Given the description of an element on the screen output the (x, y) to click on. 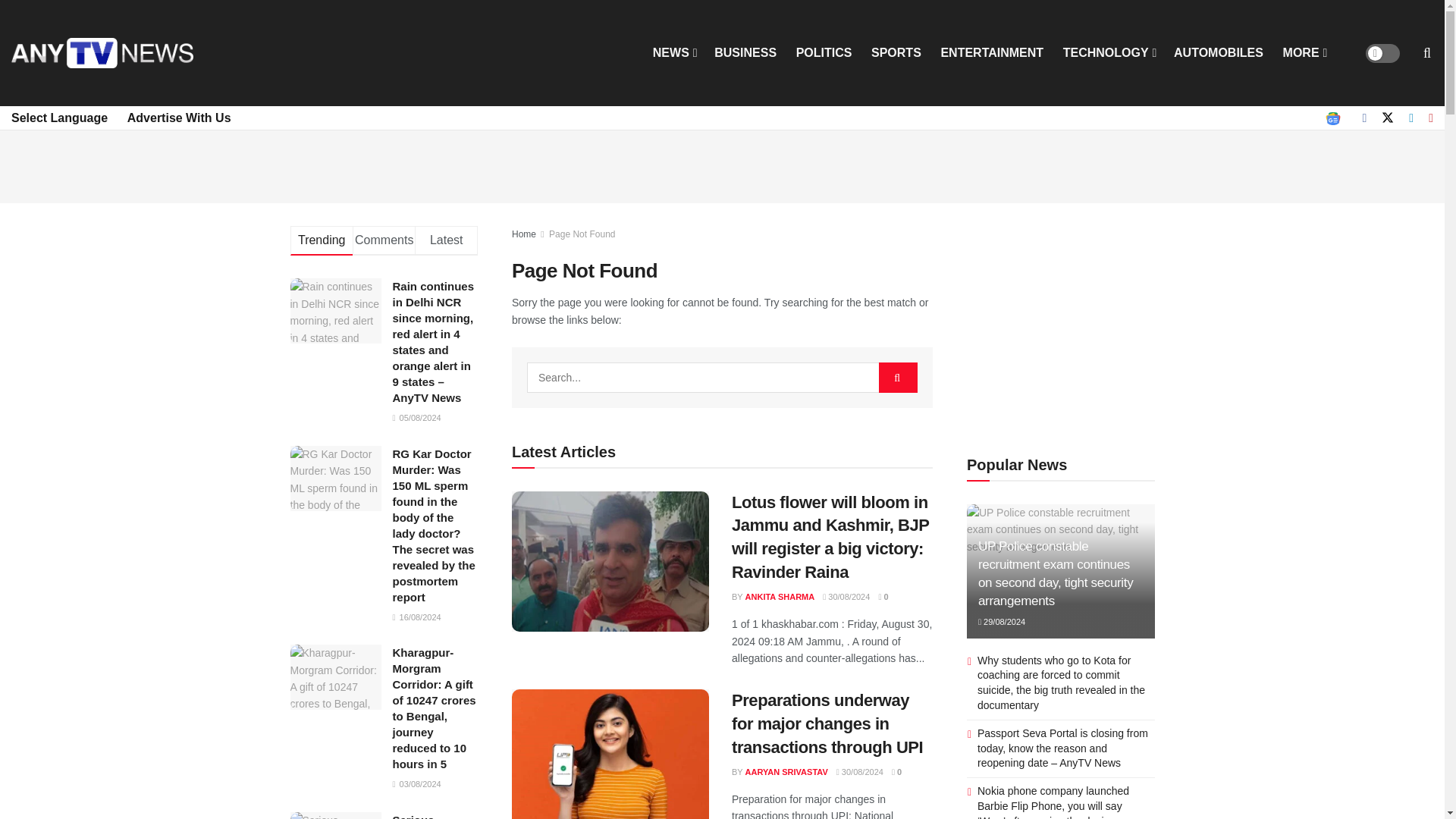
AUTOMOBILES (1218, 52)
SPORTS (895, 52)
TECHNOLOGY (1108, 52)
Advertise With Us (179, 118)
BUSINESS (745, 52)
Select Language (59, 118)
NEWS (673, 52)
ENTERTAINMENT (991, 52)
MORE (1303, 52)
POLITICS (823, 52)
